Given the description of an element on the screen output the (x, y) to click on. 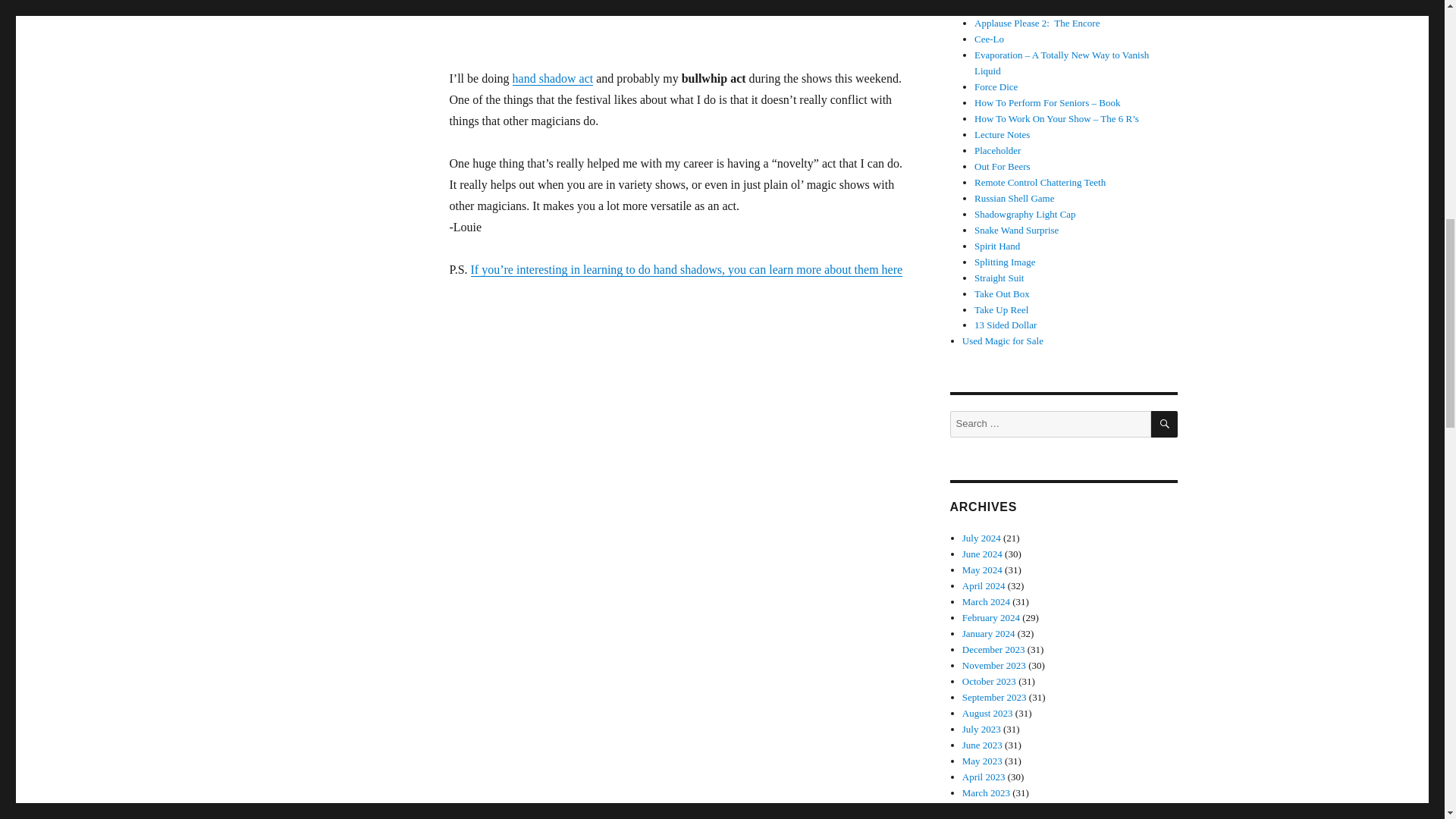
hand shadow act (553, 78)
